Given the description of an element on the screen output the (x, y) to click on. 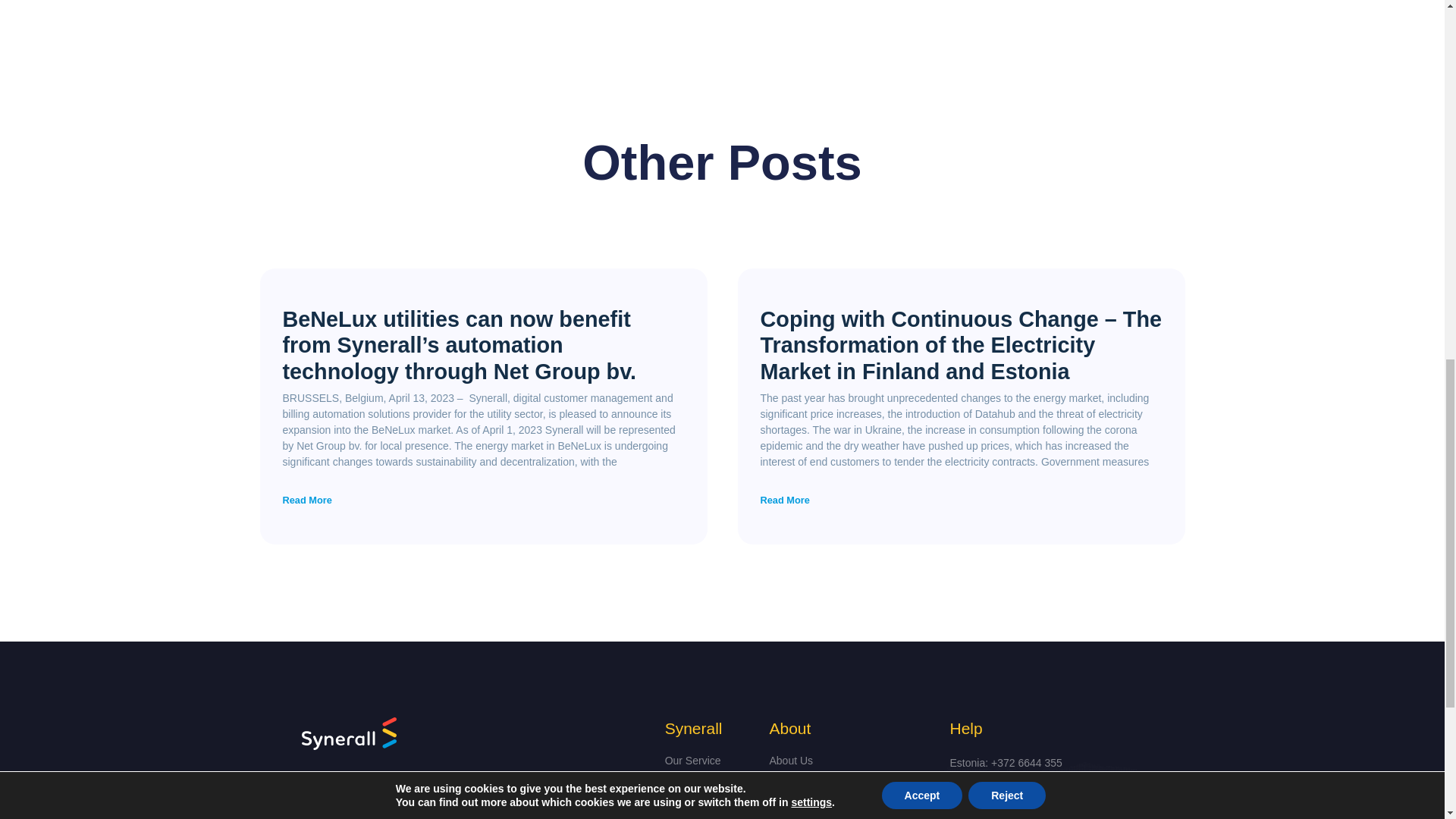
Careers (847, 785)
Read More (784, 500)
Integrations (709, 785)
References (709, 809)
About Us (847, 760)
Our Service (709, 760)
Read More (306, 500)
